Given the description of an element on the screen output the (x, y) to click on. 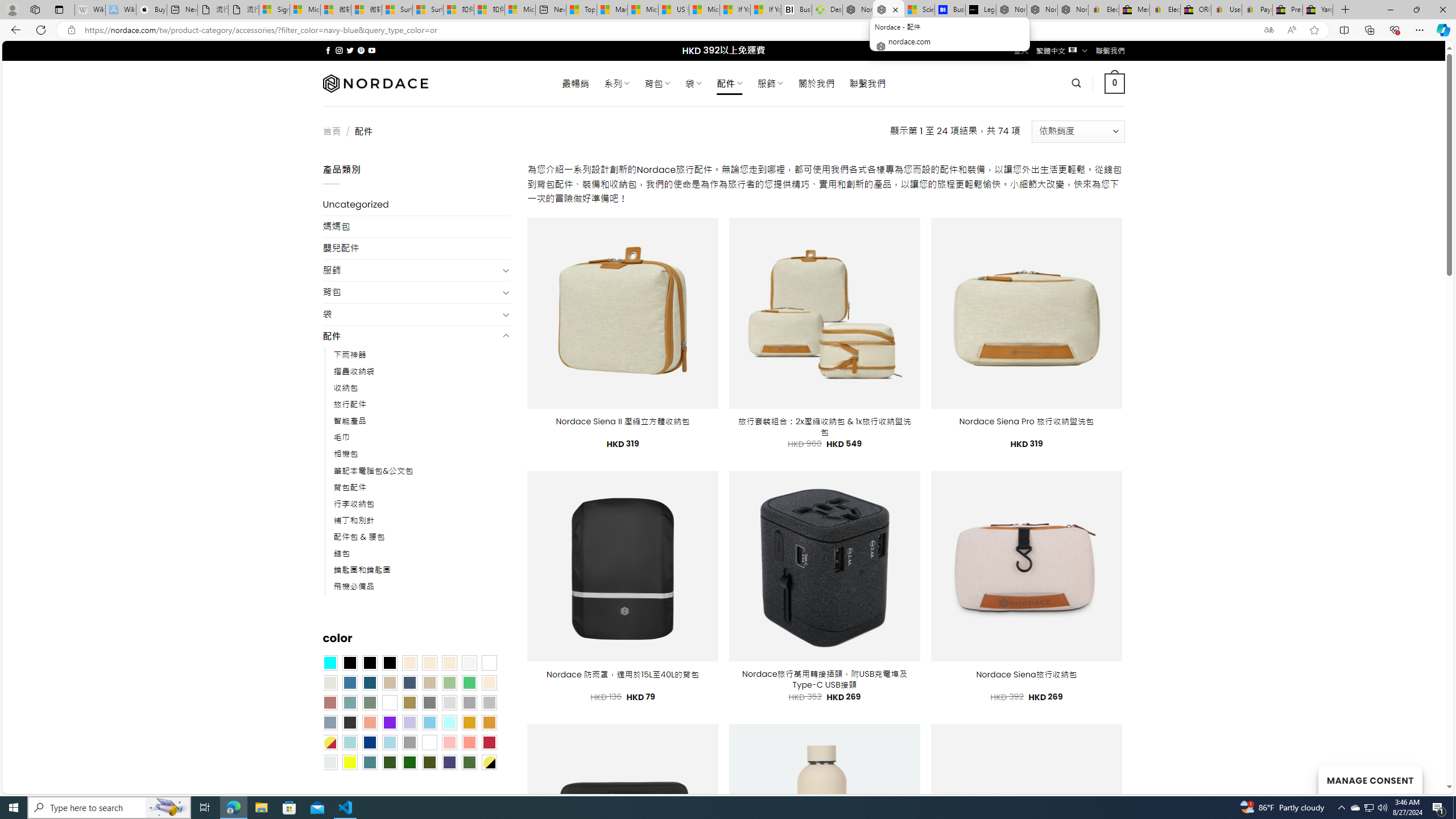
Uncategorized (416, 204)
Yard, Garden & Outdoor Living (1317, 9)
MANAGE CONSENT (1369, 779)
